Given the description of an element on the screen output the (x, y) to click on. 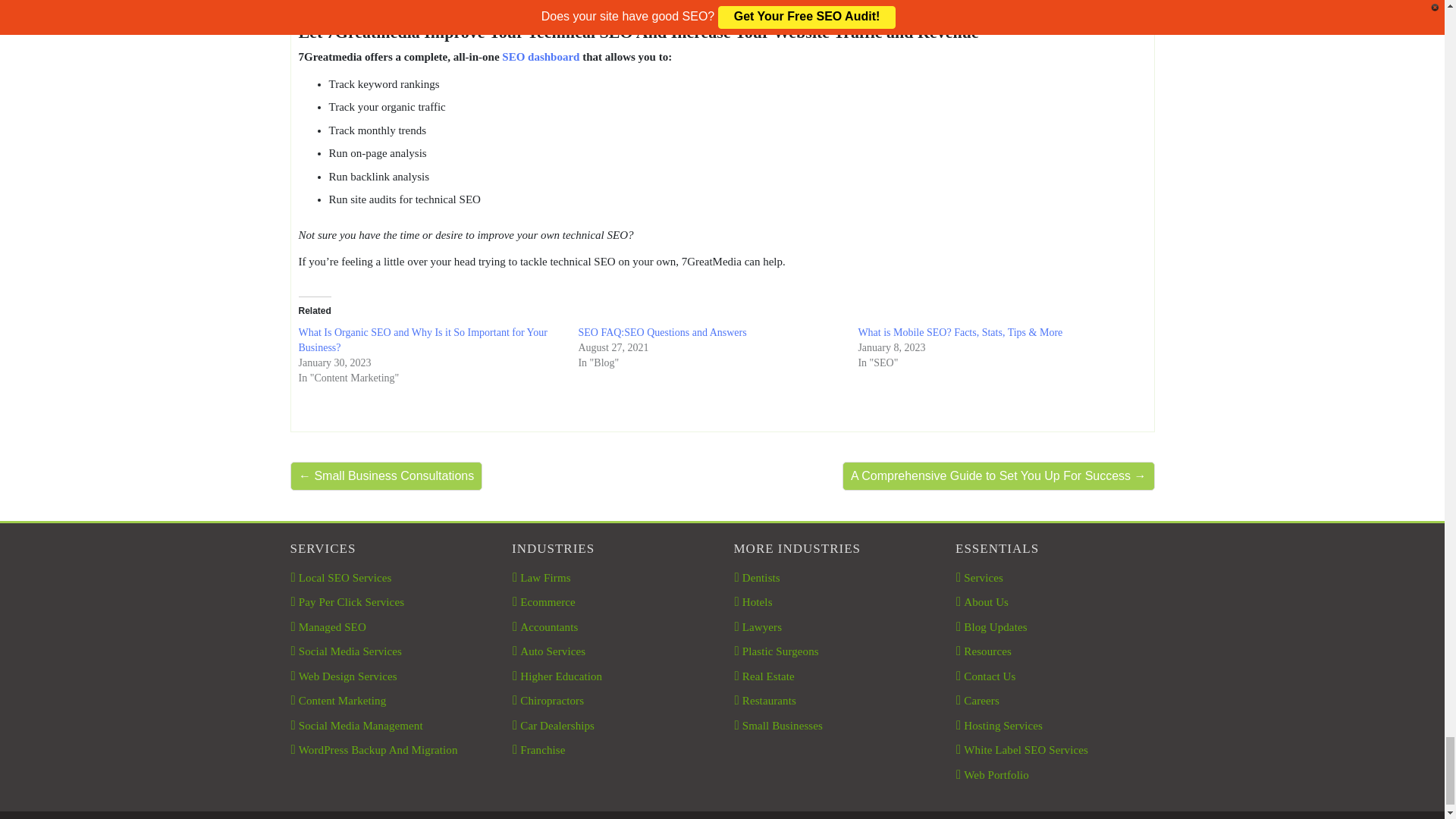
SEO FAQ:SEO Questions and Answers (661, 332)
